Given the description of an element on the screen output the (x, y) to click on. 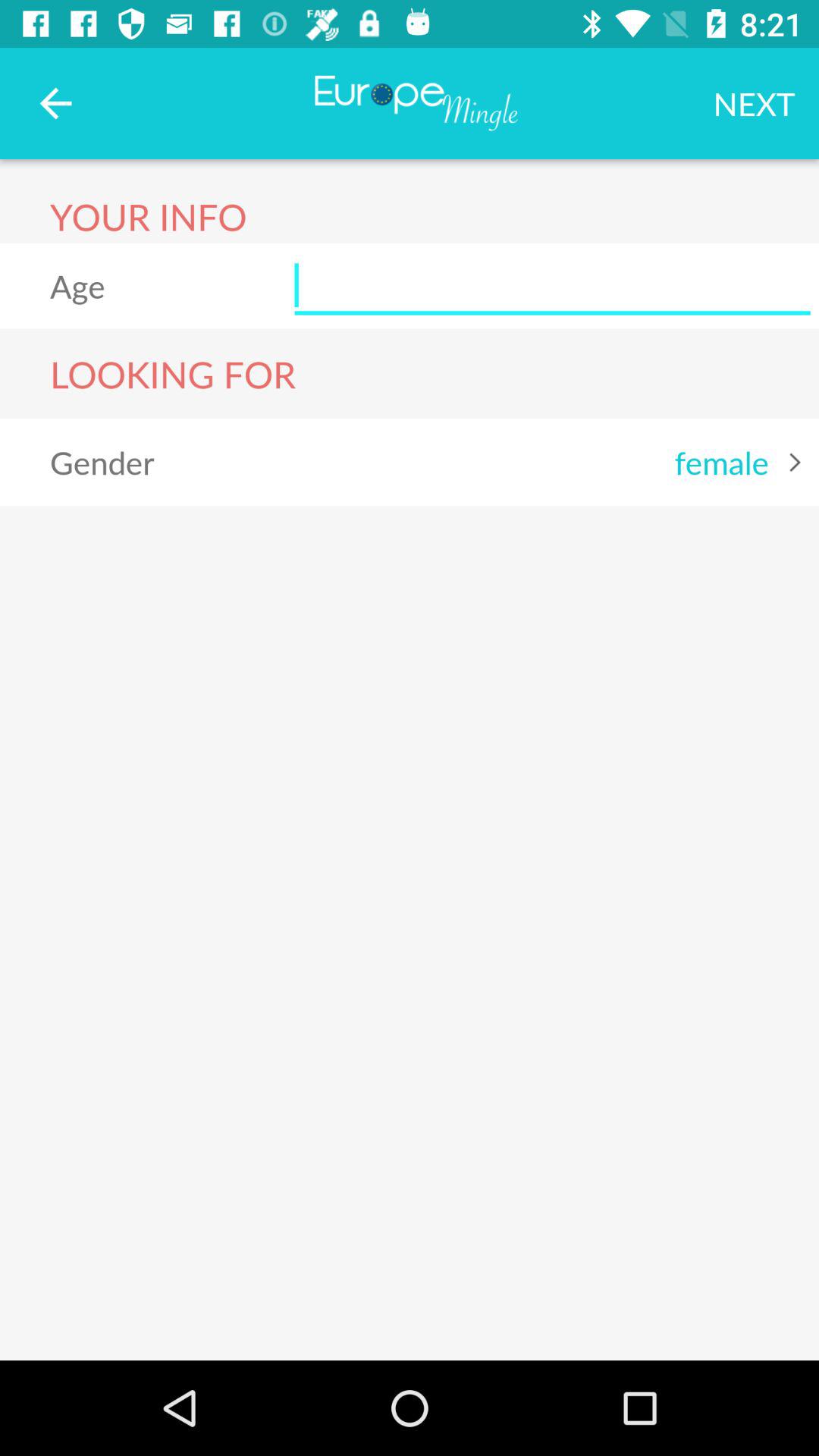
enter your age (552, 285)
